Given the description of an element on the screen output the (x, y) to click on. 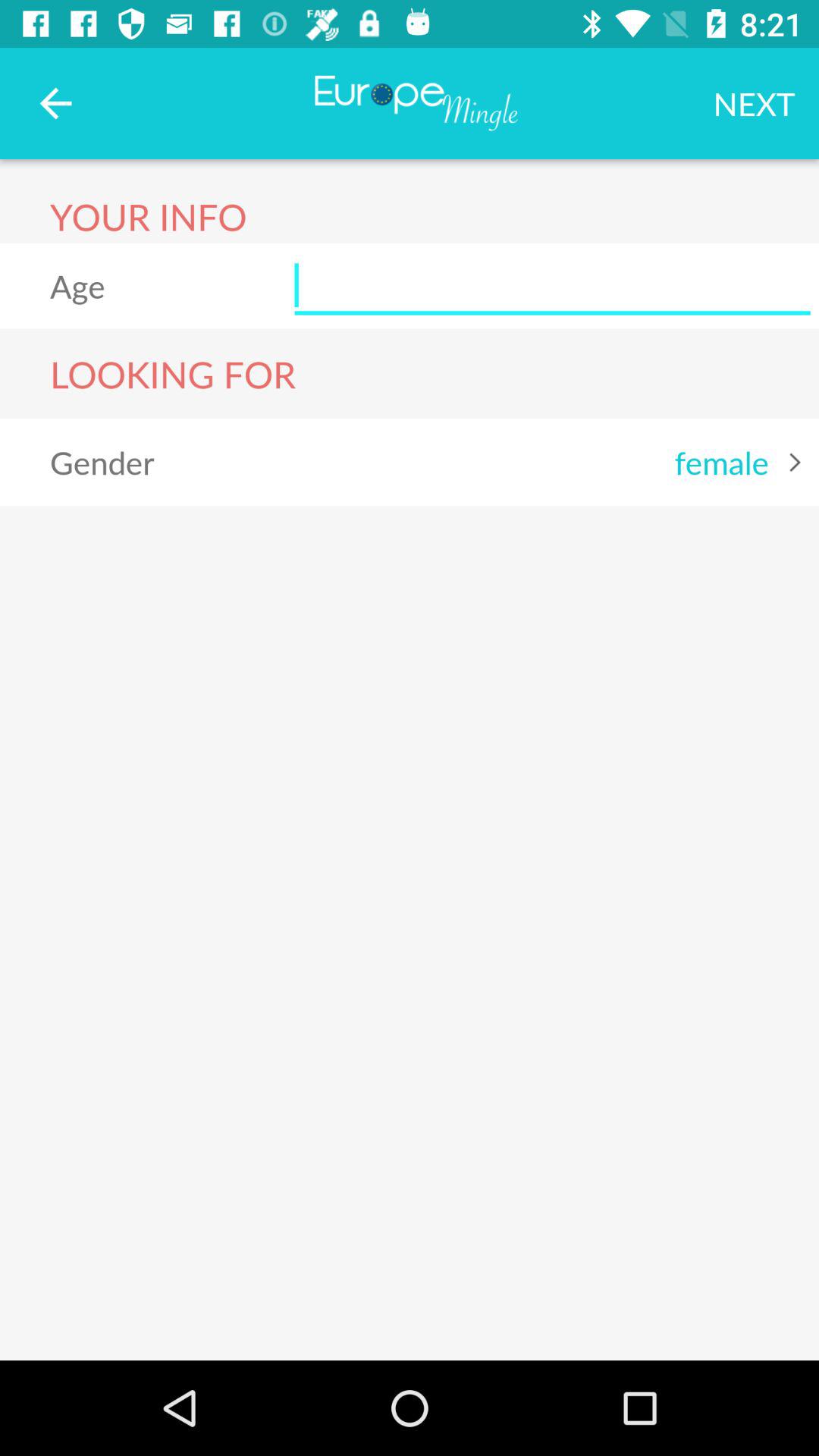
enter your age (552, 285)
